Given the description of an element on the screen output the (x, y) to click on. 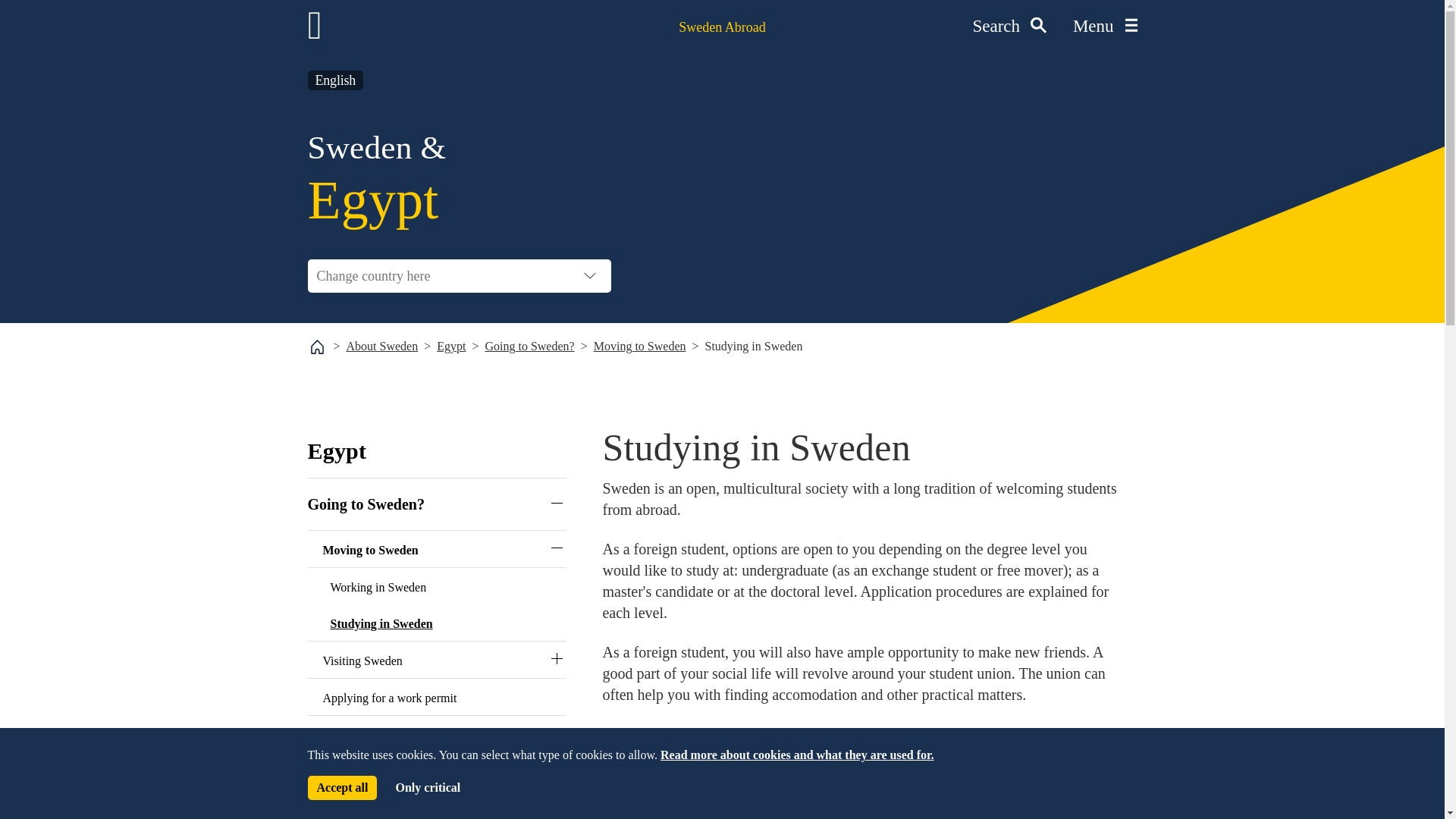
Search (1008, 26)
Menu (1105, 26)
Sweden Abroad (721, 27)
Only critical (427, 787)
Accept all (342, 787)
Read more about cookies and what they are used for. (797, 754)
